Given the description of an element on the screen output the (x, y) to click on. 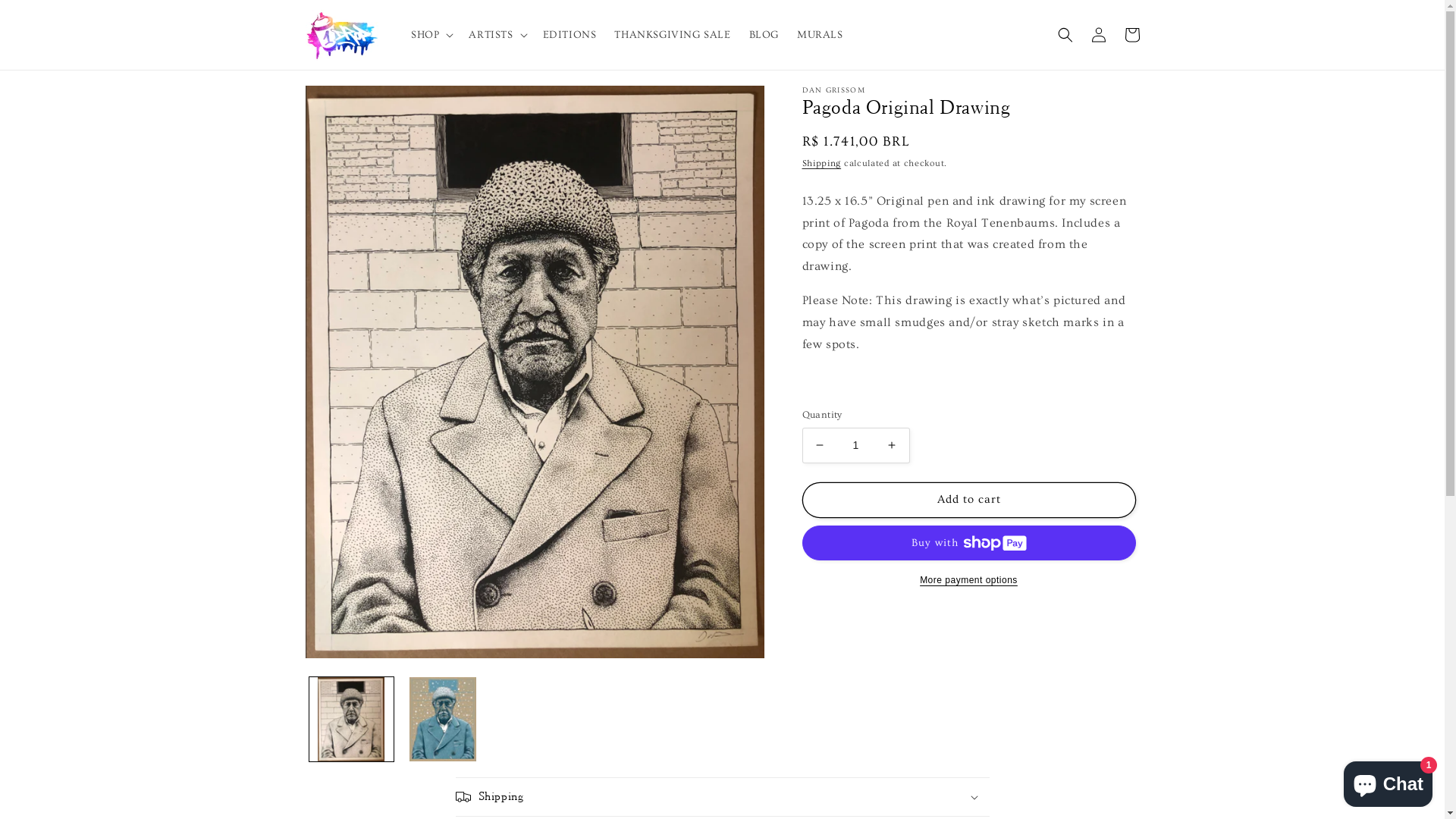
THANKSGIVING SALE Element type: text (672, 34)
Increase quantity for Pagoda Original Drawing Element type: text (892, 445)
More payment options Element type: text (968, 579)
Log in Element type: text (1097, 34)
DAN GRISSOM Element type: text (970, 89)
Shipping Element type: text (821, 162)
BLOG Element type: text (763, 34)
MURALS Element type: text (819, 34)
Decrease quantity for Pagoda Original Drawing Element type: text (819, 445)
Cart Element type: text (1131, 34)
EDITIONS Element type: text (569, 34)
Add to cart Element type: text (968, 499)
Shopify online store chat Element type: hover (1388, 780)
Skip to product information Element type: text (350, 102)
